Given the description of an element on the screen output the (x, y) to click on. 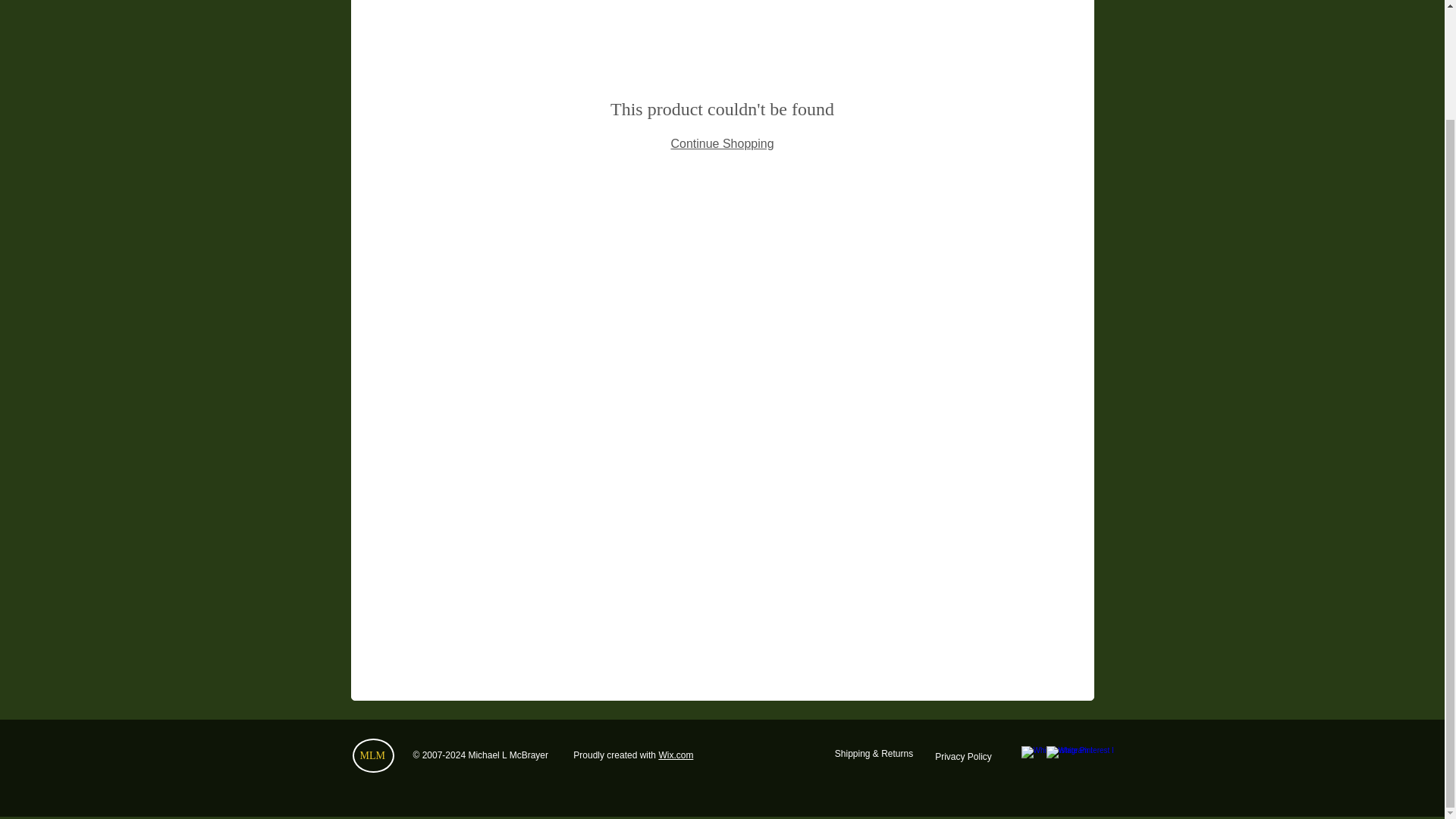
Wix.com (675, 755)
Privacy Policy (963, 757)
MLM (371, 755)
Continue Shopping (721, 143)
